Given the description of an element on the screen output the (x, y) to click on. 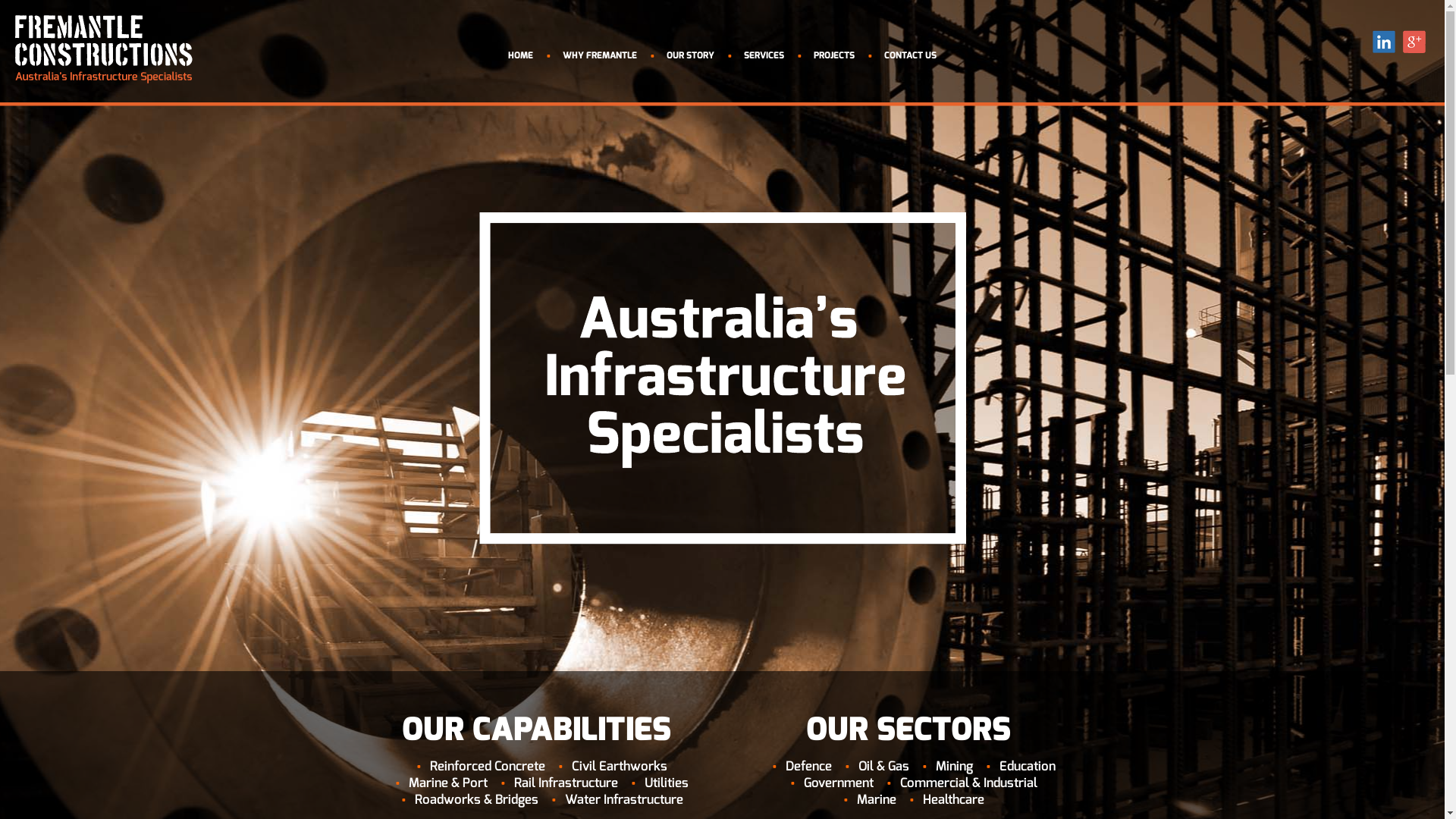
SERVICES Element type: text (763, 55)
Mining Element type: text (953, 766)
HOME Element type: text (520, 55)
Fremantle Contructions Element type: text (103, 49)
Education Element type: text (1027, 766)
Roadworks & Bridges Element type: text (475, 799)
Marine & Port Element type: text (447, 782)
Commercial & Industrial Element type: text (967, 782)
OUR STORY Element type: text (690, 55)
Defence Element type: text (808, 766)
Rail Infrastructure Element type: text (566, 782)
Utilities Element type: text (666, 782)
Water Infrastructure Element type: text (623, 799)
Oil & Gas Element type: text (883, 766)
CONTACT US Element type: text (910, 55)
Reinforced Concrete Element type: text (487, 766)
Skip to main content Element type: text (44, 0)
Government Element type: text (838, 782)
WHY FREMANTLE Element type: text (599, 55)
Google+ Element type: text (1413, 41)
Marine Element type: text (876, 799)
Healthcare Element type: text (952, 799)
PROJECTS Element type: text (833, 55)
Civil Earthworks Element type: text (619, 766)
LinkedIn Element type: text (1383, 41)
